Given the description of an element on the screen output the (x, y) to click on. 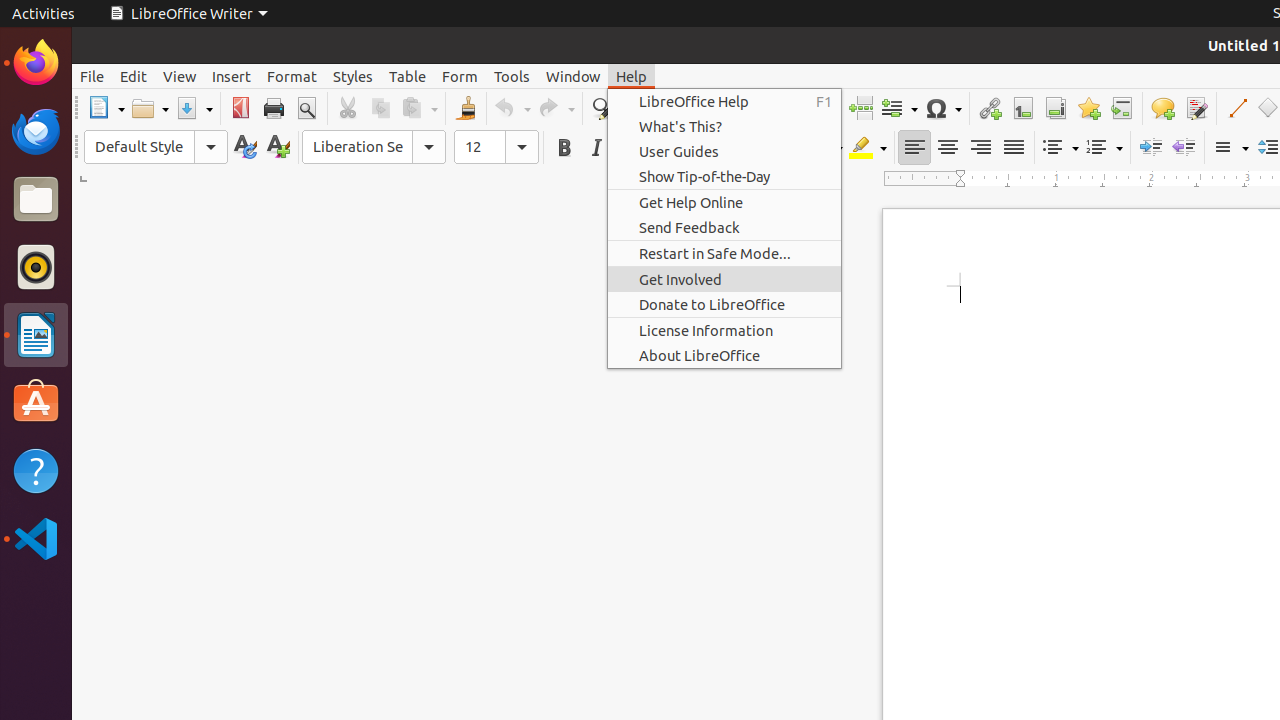
Edit Element type: menu (133, 76)
Clone Element type: push-button (465, 108)
Show Tip-of-the-Day Element type: menu-item (724, 176)
Undo Element type: push-button (512, 108)
Tools Element type: menu (512, 76)
